Given the description of an element on the screen output the (x, y) to click on. 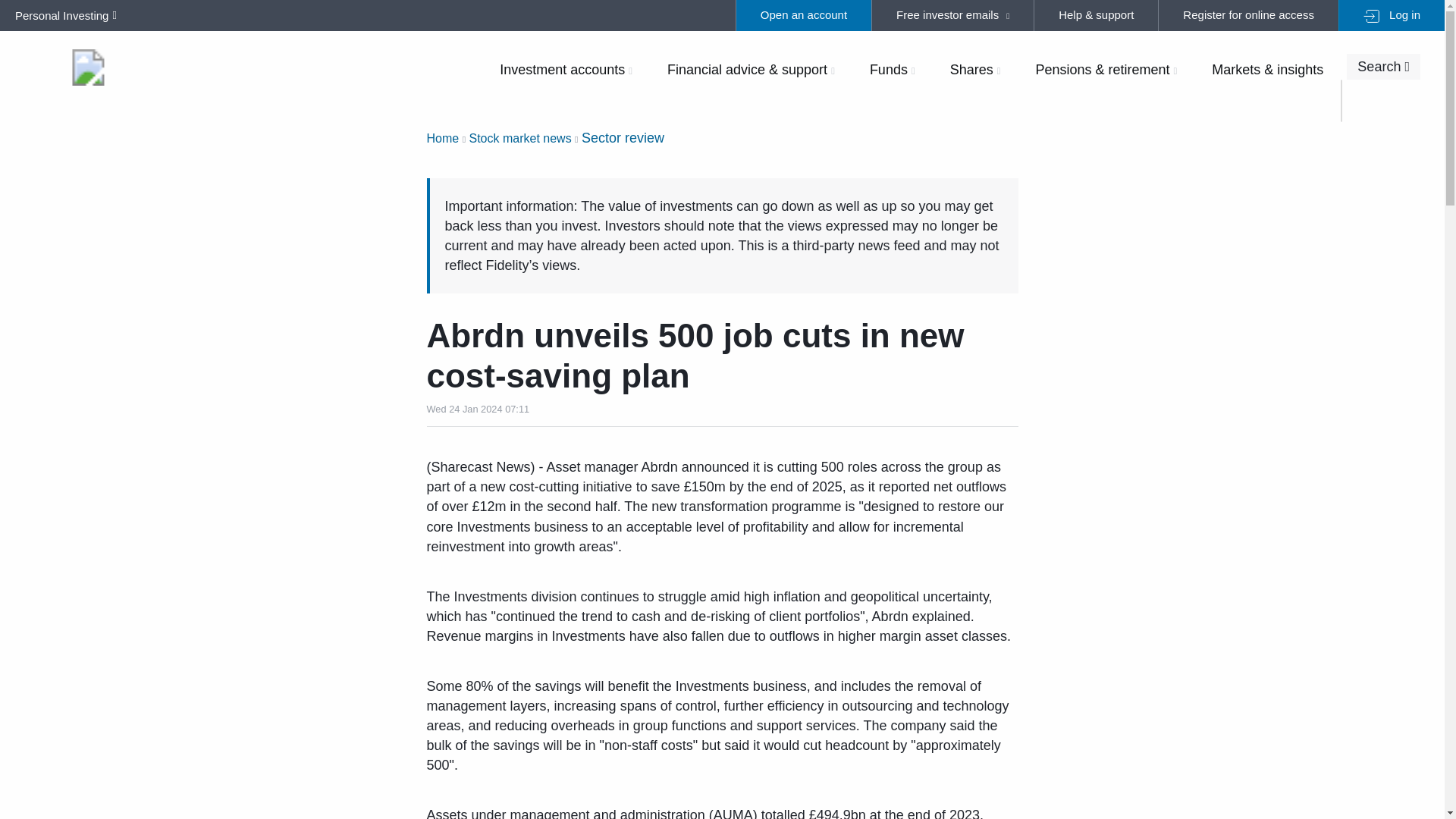
Investment accounts (565, 69)
Open an account (802, 15)
Fidelity International Logo (88, 67)
Free investor emails (951, 15)
Personal Investing (61, 15)
Fidelity International Logo (88, 67)
Register for online access (1247, 15)
